Given the description of an element on the screen output the (x, y) to click on. 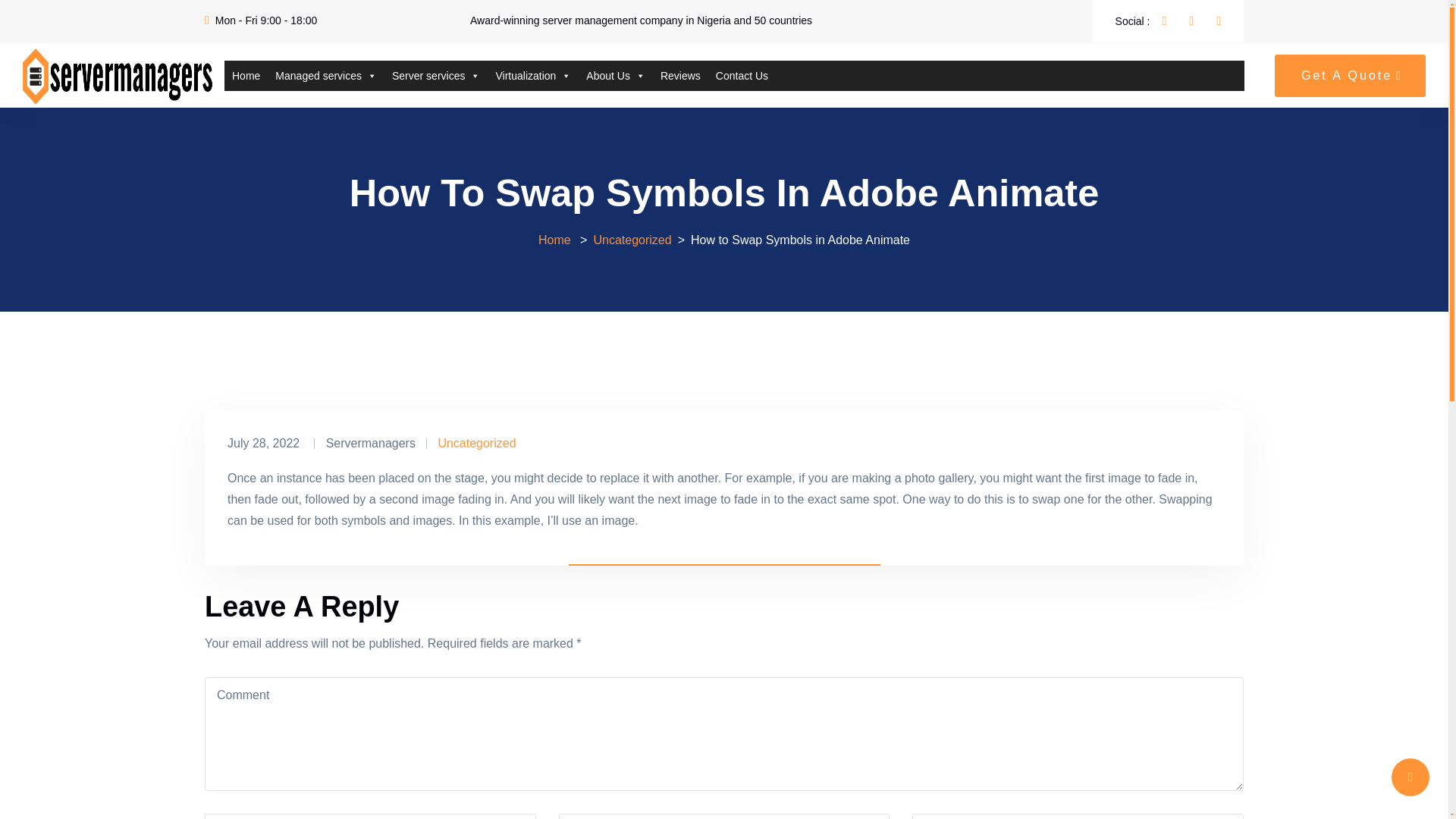
Home (245, 75)
Managed services (325, 75)
Server services (435, 75)
Virtualization (532, 75)
